Given the description of an element on the screen output the (x, y) to click on. 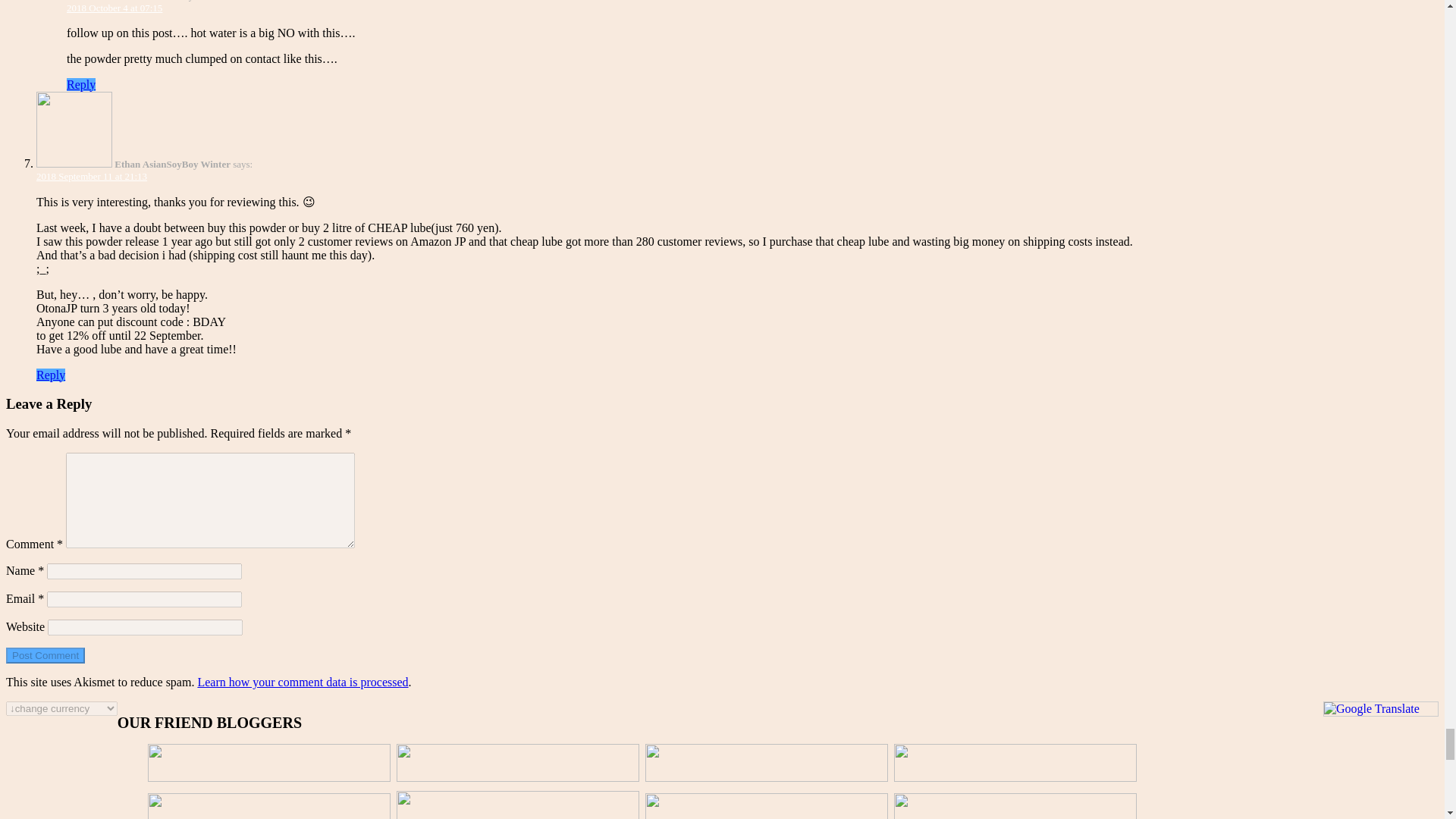
Post Comment (44, 655)
